Given the description of an element on the screen output the (x, y) to click on. 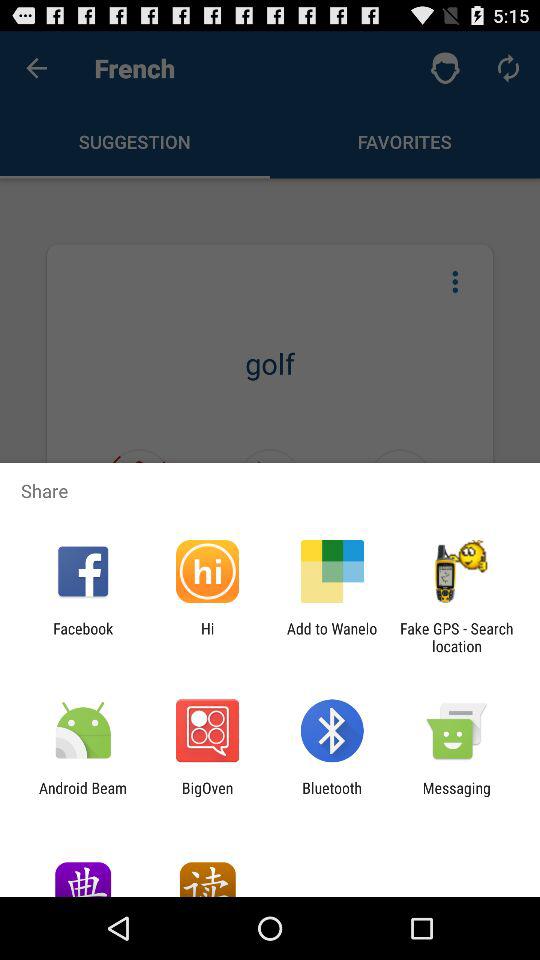
launch facebook app (83, 637)
